Given the description of an element on the screen output the (x, y) to click on. 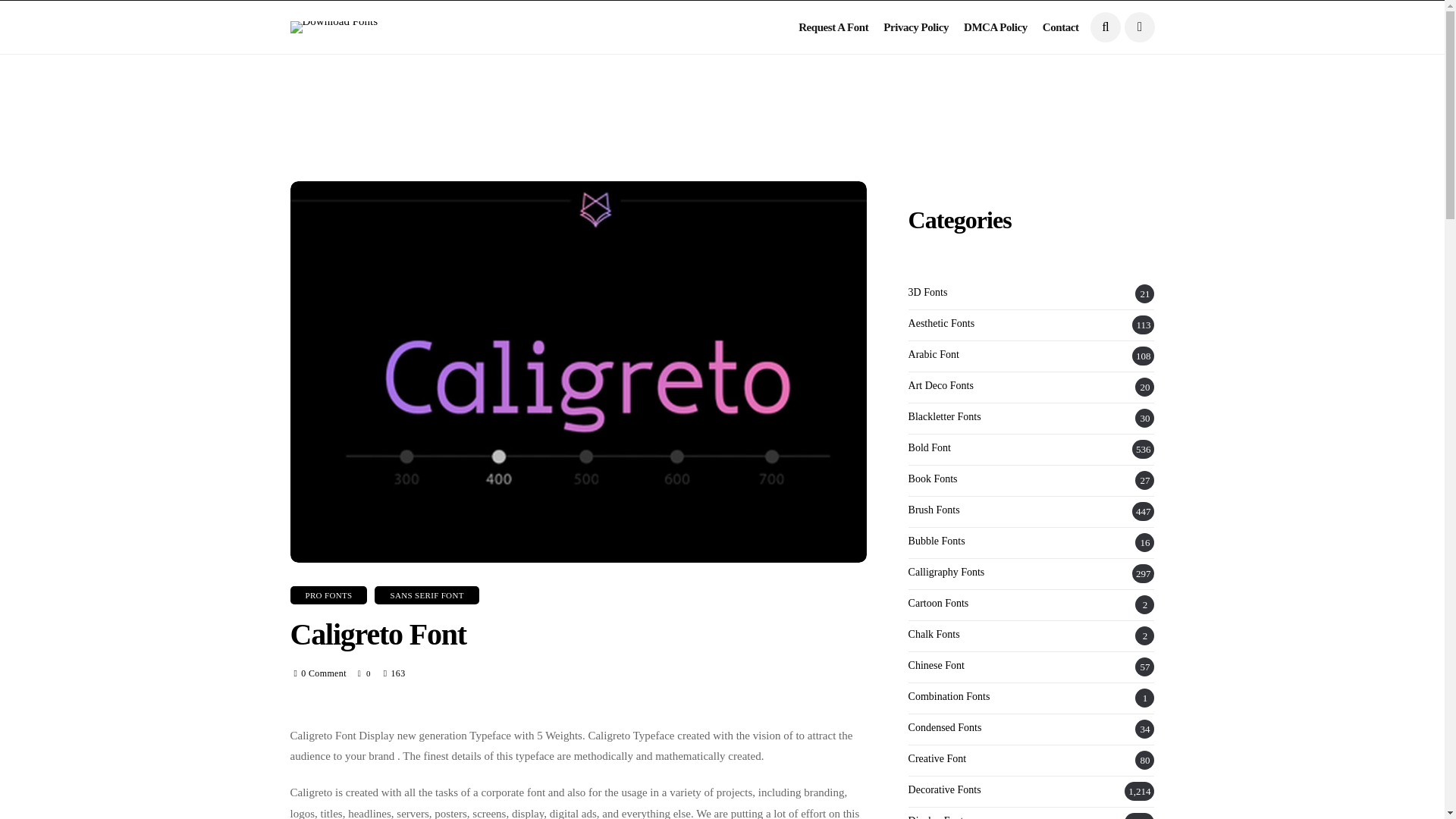
0 Comment (323, 673)
SANS SERIF FONT (426, 595)
DMCA Policy (995, 27)
0 (365, 672)
PRO FONTS (327, 595)
Request A Font (832, 27)
Like (365, 672)
Privacy Policy (916, 27)
